Given the description of an element on the screen output the (x, y) to click on. 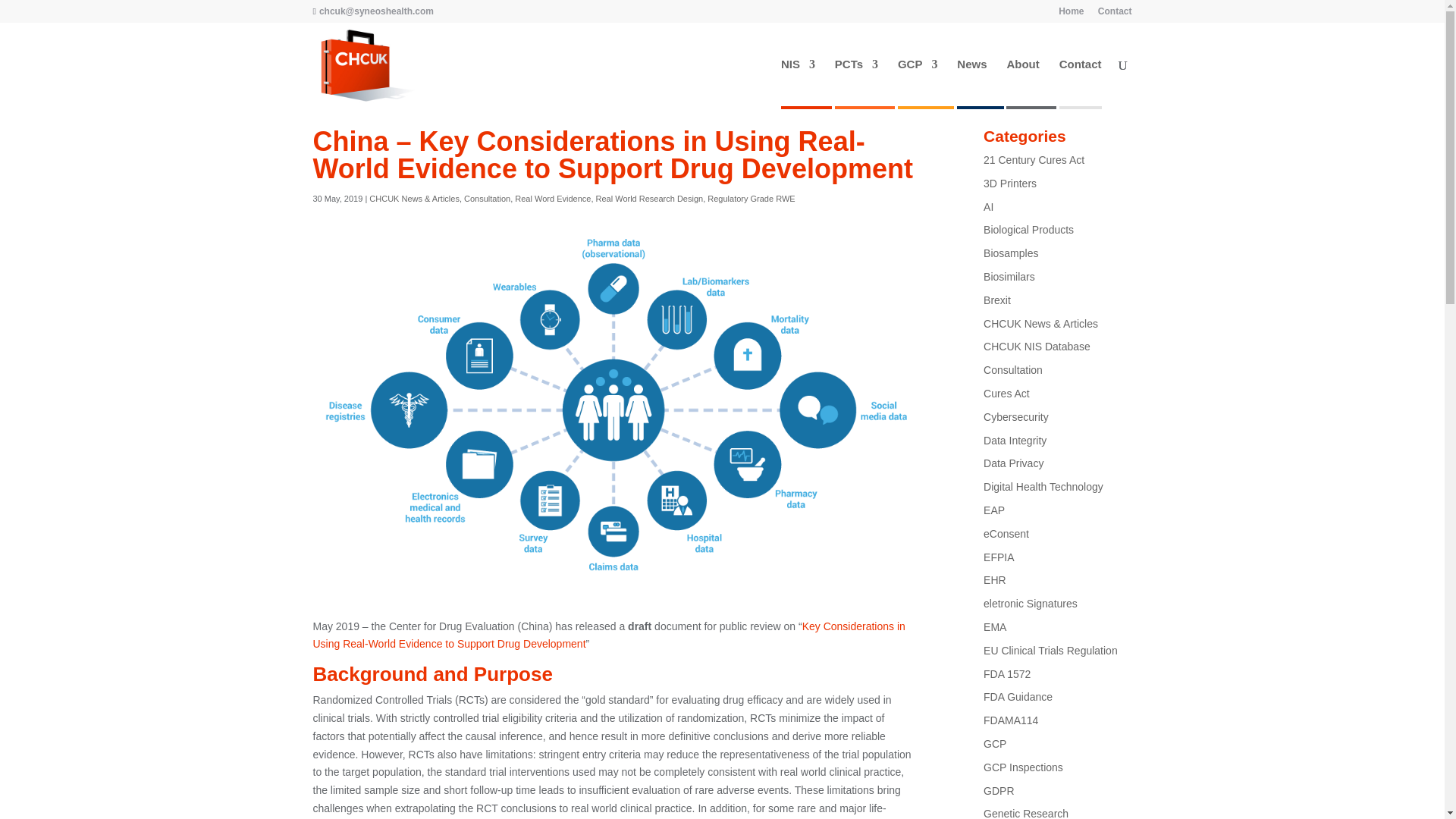
Consultation (487, 198)
Contact (1080, 82)
Contact (1114, 14)
Home (1070, 14)
3D Printers (1010, 183)
Regulatory Grade RWE (750, 198)
Real Word Evidence (553, 198)
Brexit (997, 300)
Biosimilars (1009, 276)
Real World Research Design (649, 198)
